Given the description of an element on the screen output the (x, y) to click on. 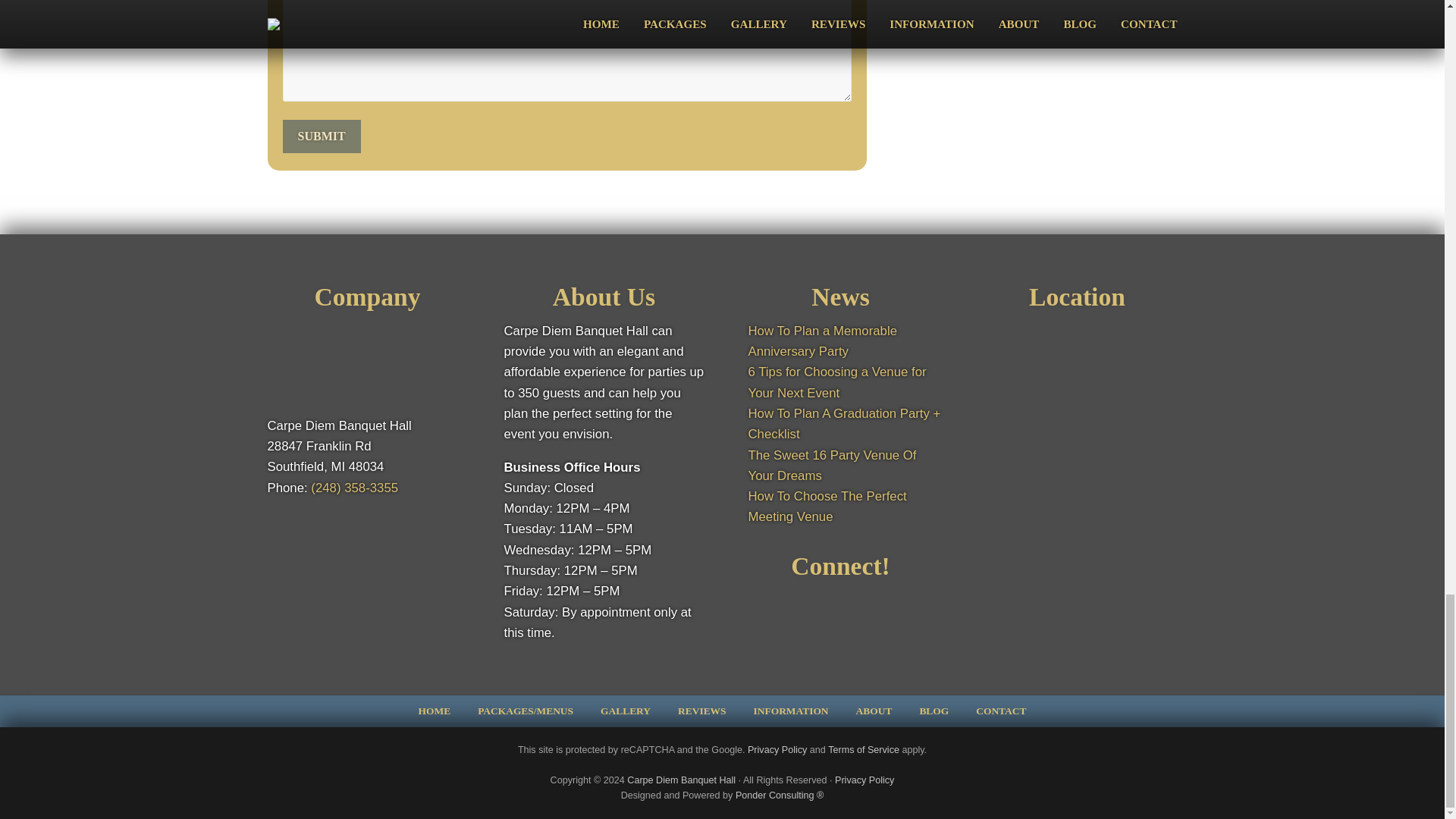
Submit (320, 136)
Carpe Diem Banquet Hall (681, 779)
Carpe Diem Banquet Hall Instagram (836, 601)
Carpe Diem Banquet Hall Twitter (868, 601)
Carpe Diem Banquet Hall Facebook (804, 601)
